Given the description of an element on the screen output the (x, y) to click on. 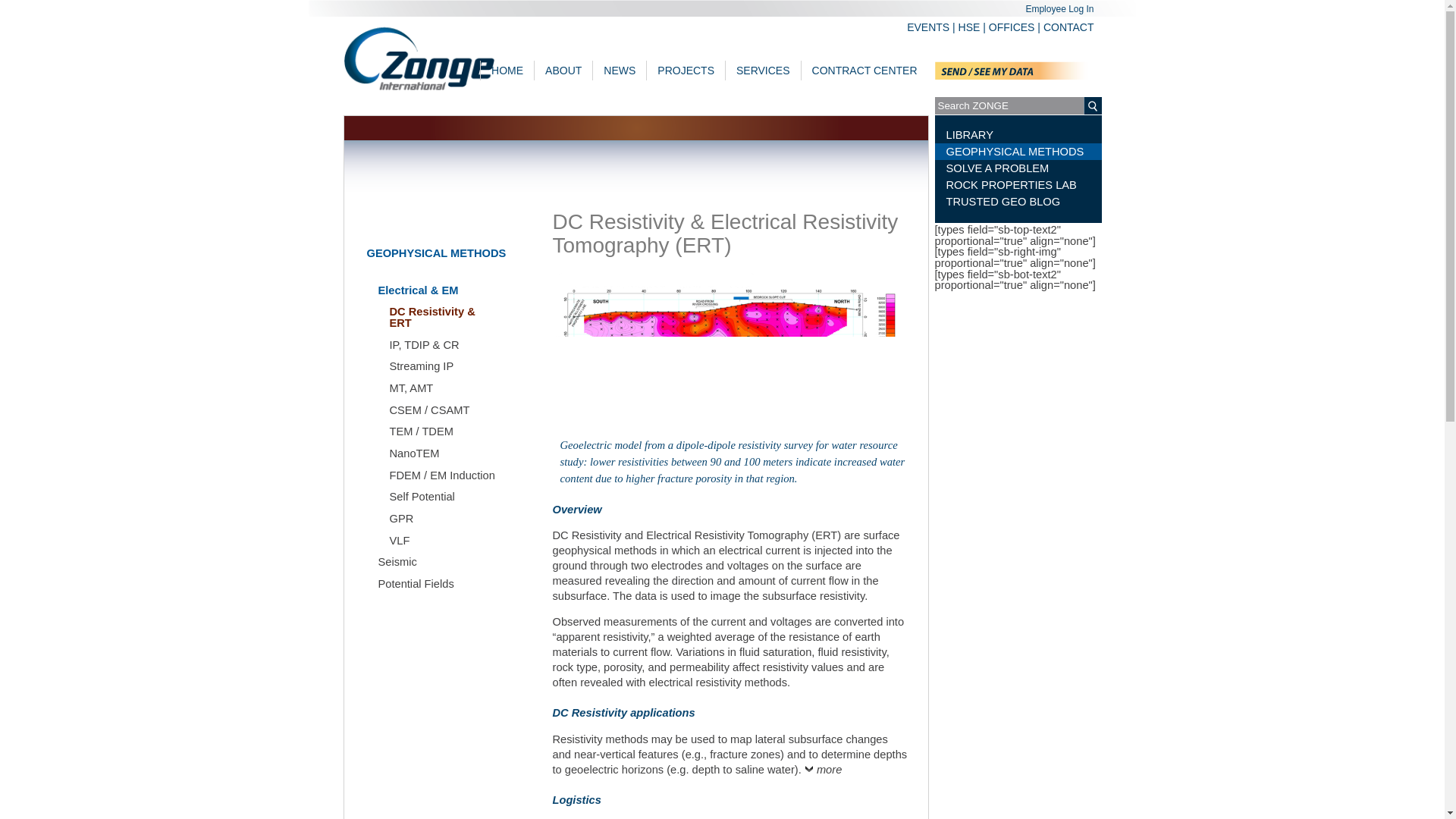
NanoTEM method (414, 453)
NEWS (619, 70)
EVENTS (928, 27)
OFFICES (1011, 27)
Seismic methods (396, 562)
Search ZONGE (1012, 105)
GPR method (401, 518)
DC Resistivity method (443, 317)
HOME (506, 70)
Submit (723, 279)
